Given the description of an element on the screen output the (x, y) to click on. 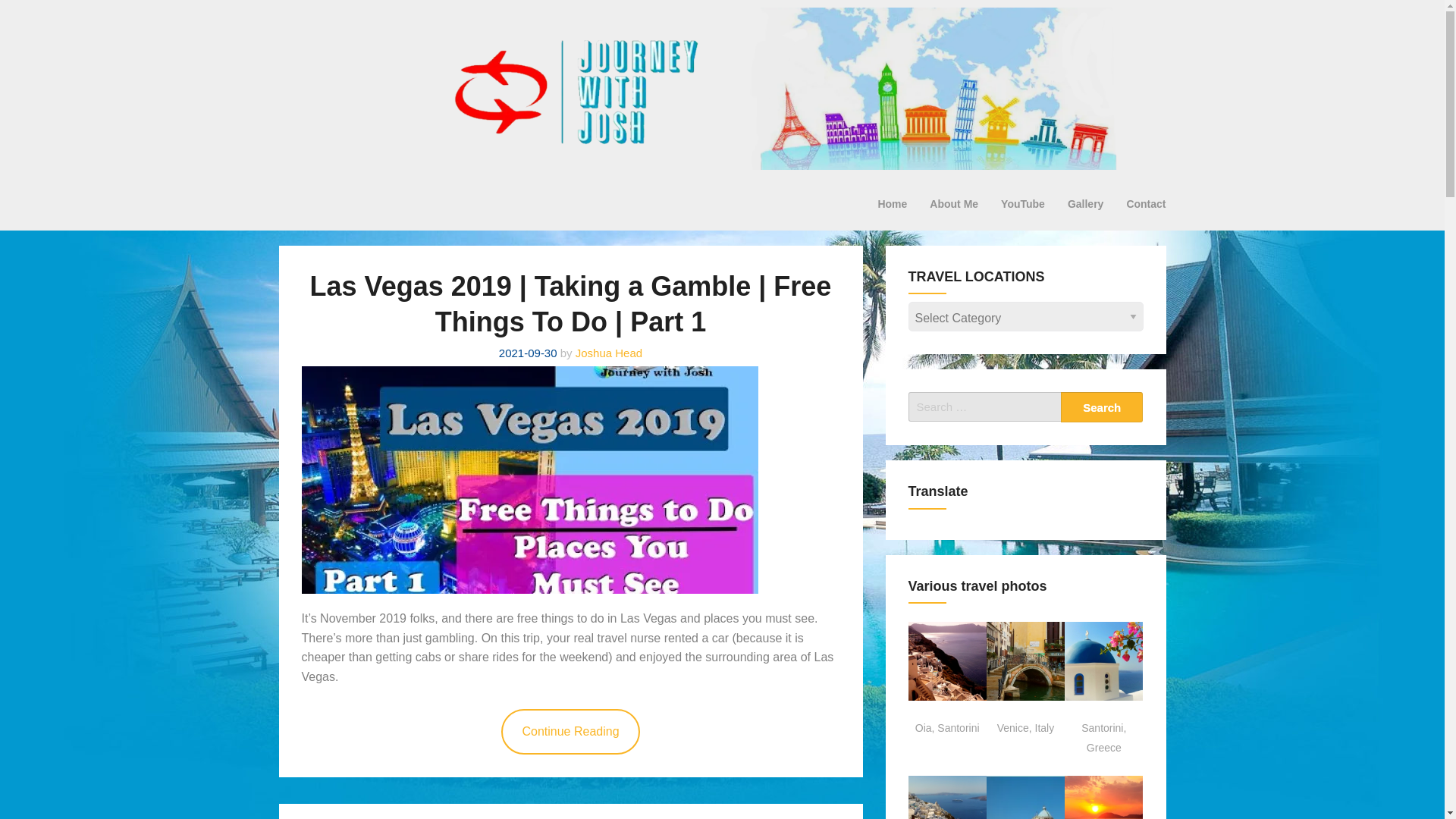
Search (1101, 407)
YouTube (1023, 203)
Search (1101, 407)
Home (892, 203)
Continue Reading (569, 731)
Contact (1145, 203)
About Me (954, 203)
Gallery (1086, 203)
2021-09-30 (528, 352)
Search (1101, 407)
